Given the description of an element on the screen output the (x, y) to click on. 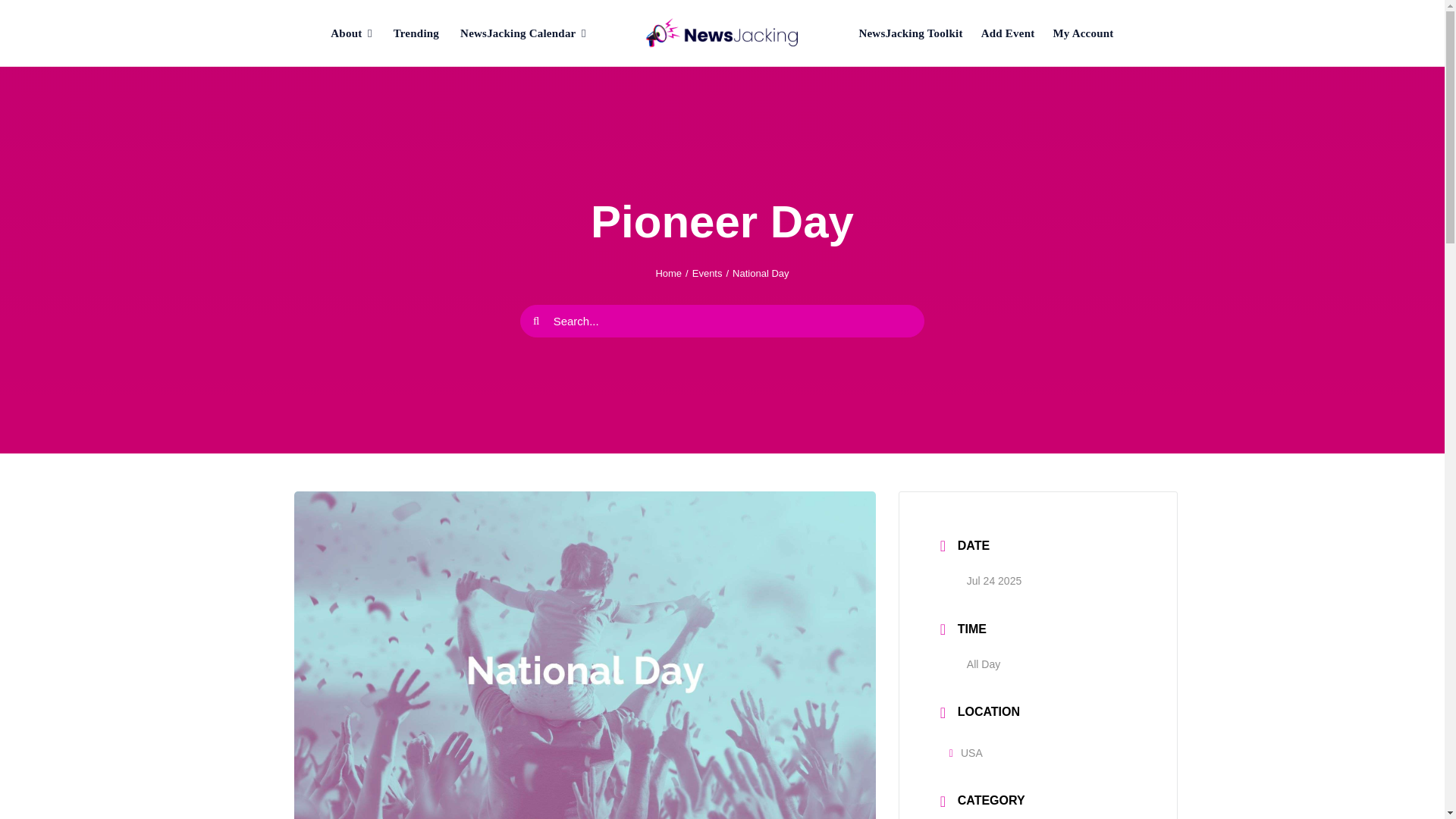
About (351, 33)
Trending (416, 33)
NewsJacking Calendar (523, 33)
